Given the description of an element on the screen output the (x, y) to click on. 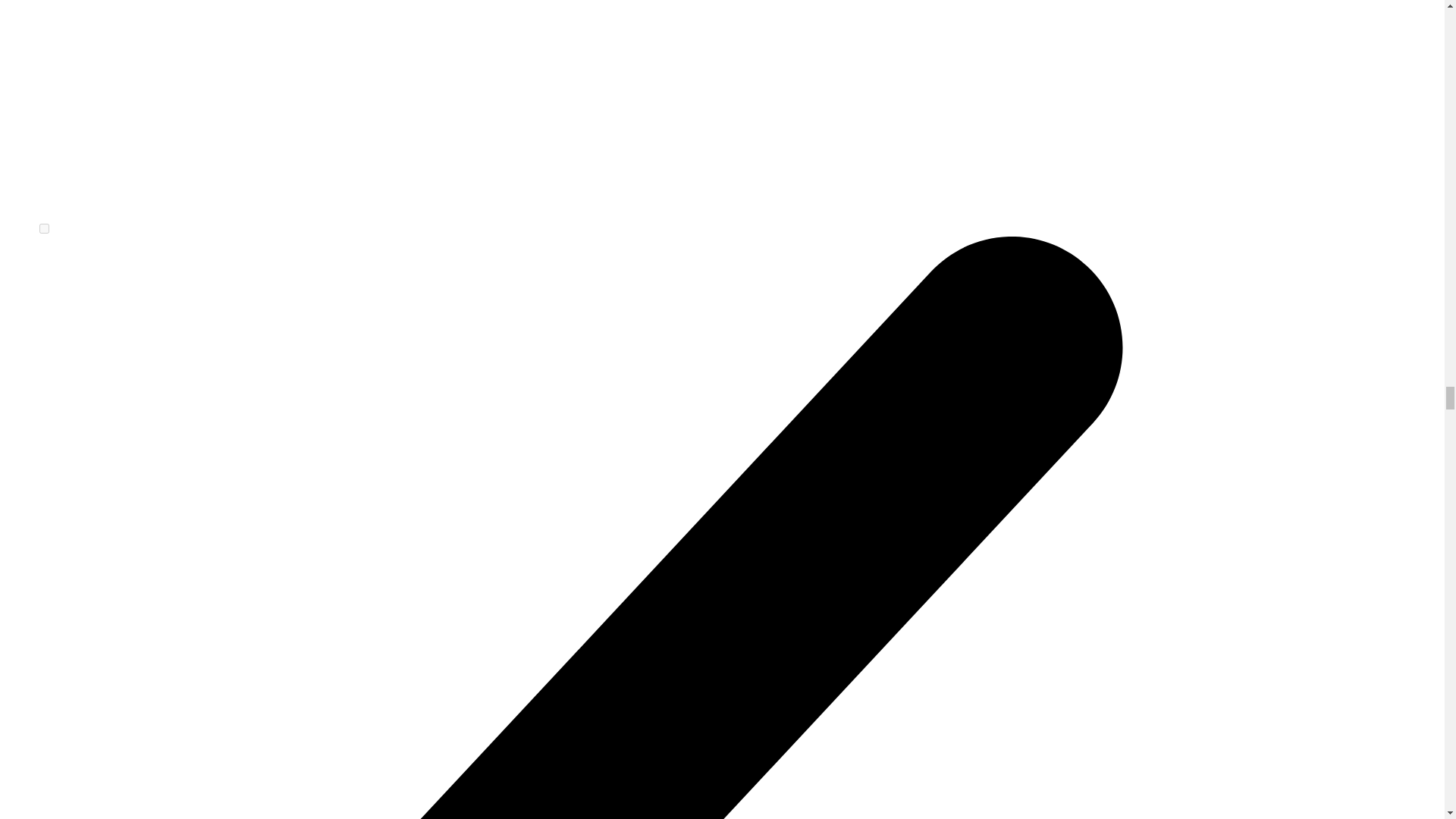
on (44, 228)
